Given the description of an element on the screen output the (x, y) to click on. 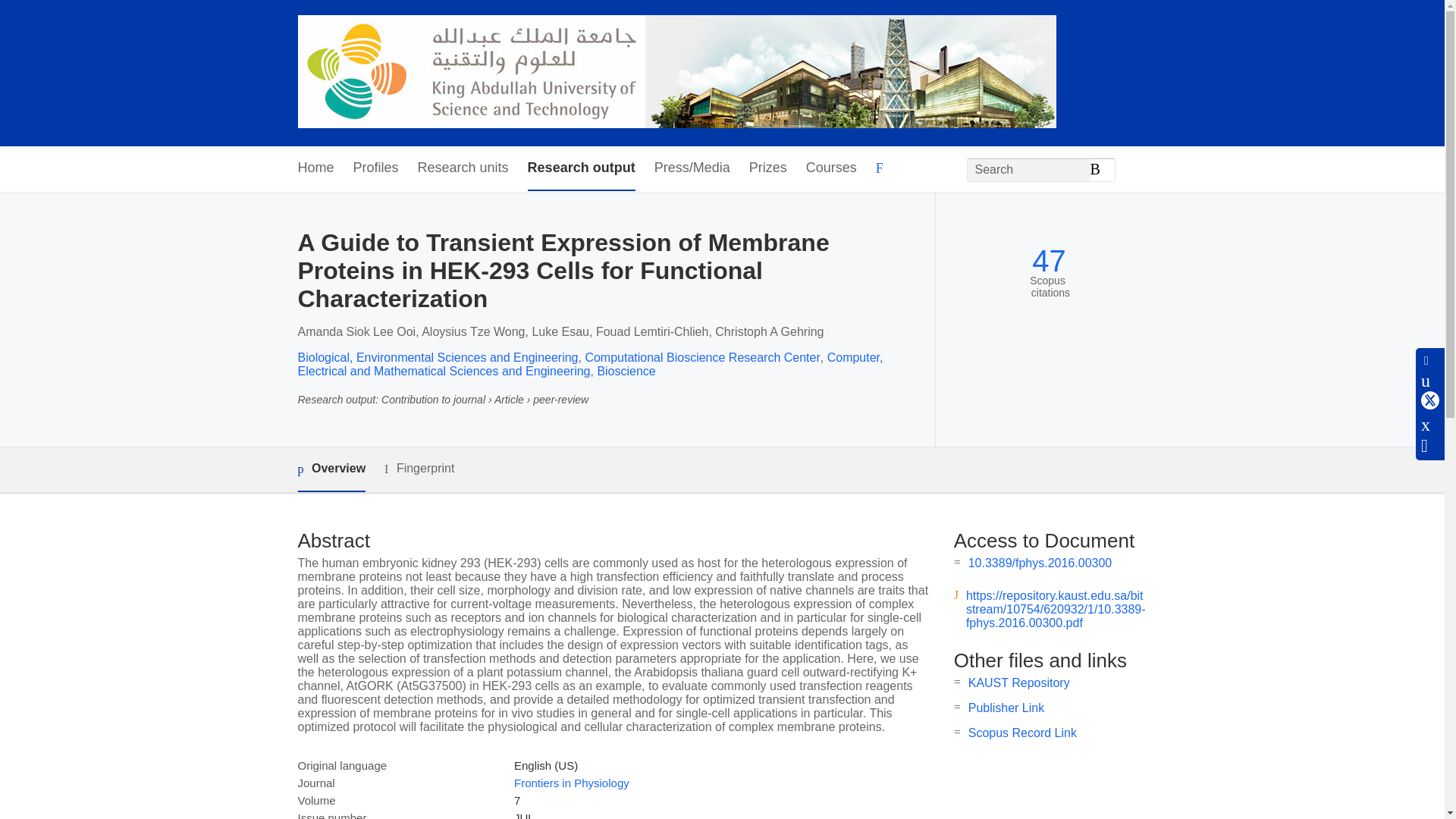
Fingerprint (419, 468)
Biological, Environmental Sciences and Engineering (437, 357)
Computational Bioscience Research Center (702, 357)
KAUST Repository (1019, 682)
Scopus Record Link (1022, 732)
Frontiers in Physiology (570, 782)
Publisher Link (1006, 707)
Research units (462, 168)
Profiles (375, 168)
47 (1048, 261)
Overview (331, 469)
KAUST PORTAL FOR RESEARCHERS AND STUDENTS Home (676, 73)
Research output (580, 168)
